Given the description of an element on the screen output the (x, y) to click on. 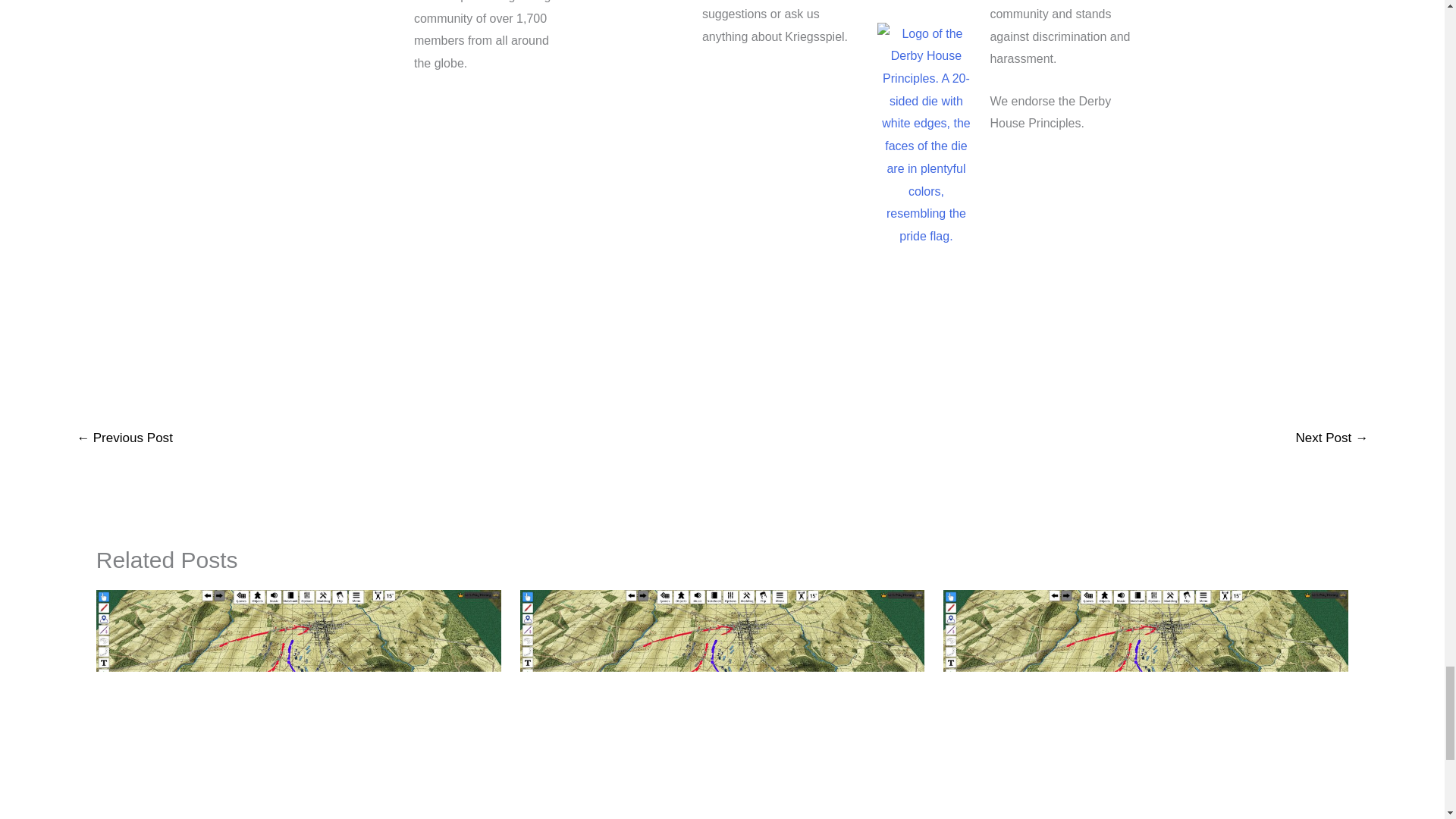
Derby House Principles Logo (925, 135)
